Given the description of an element on the screen output the (x, y) to click on. 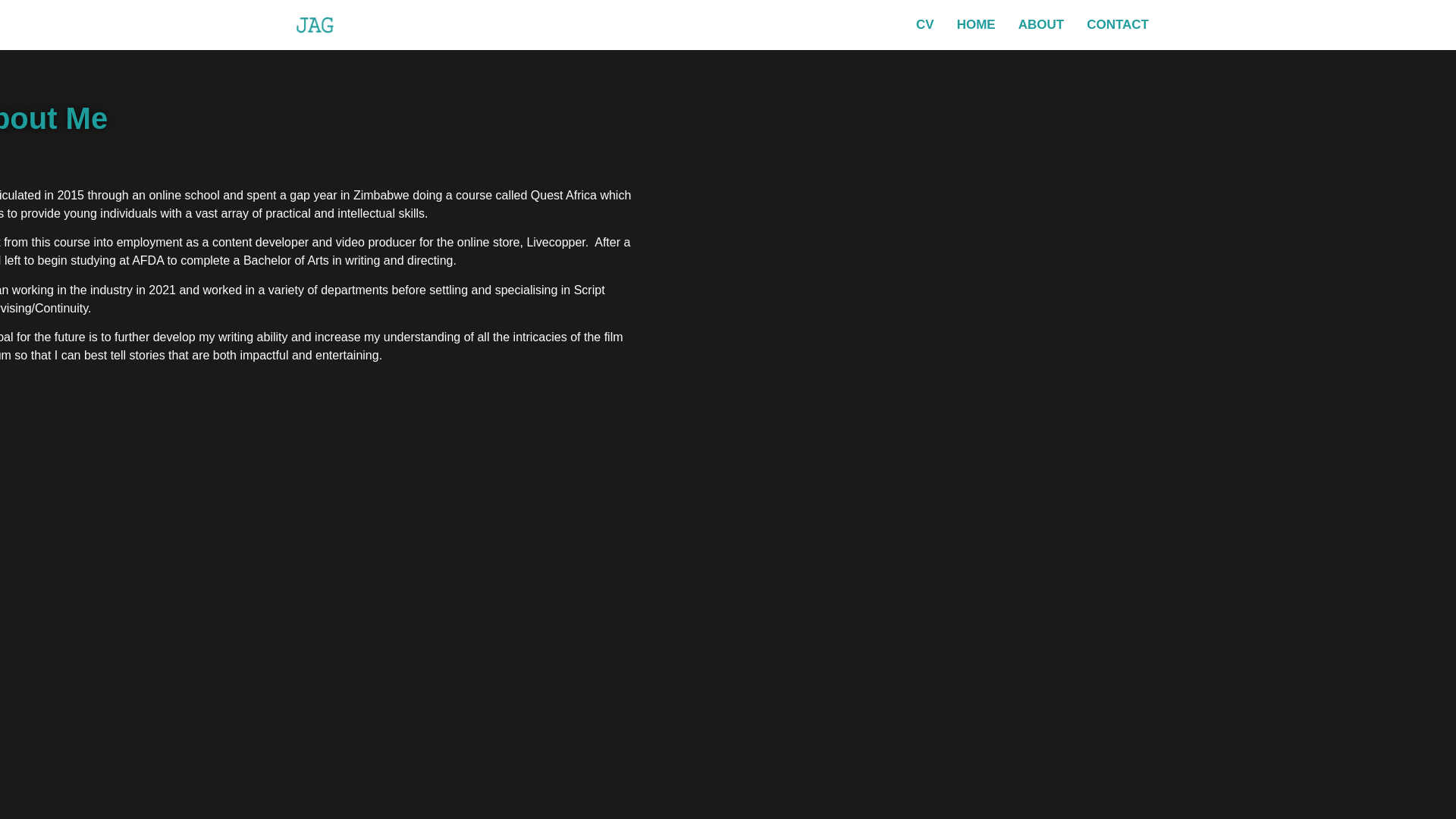
HOME (975, 24)
CONTACT (1117, 24)
CV (924, 24)
ABOUT (1041, 24)
